Given the description of an element on the screen output the (x, y) to click on. 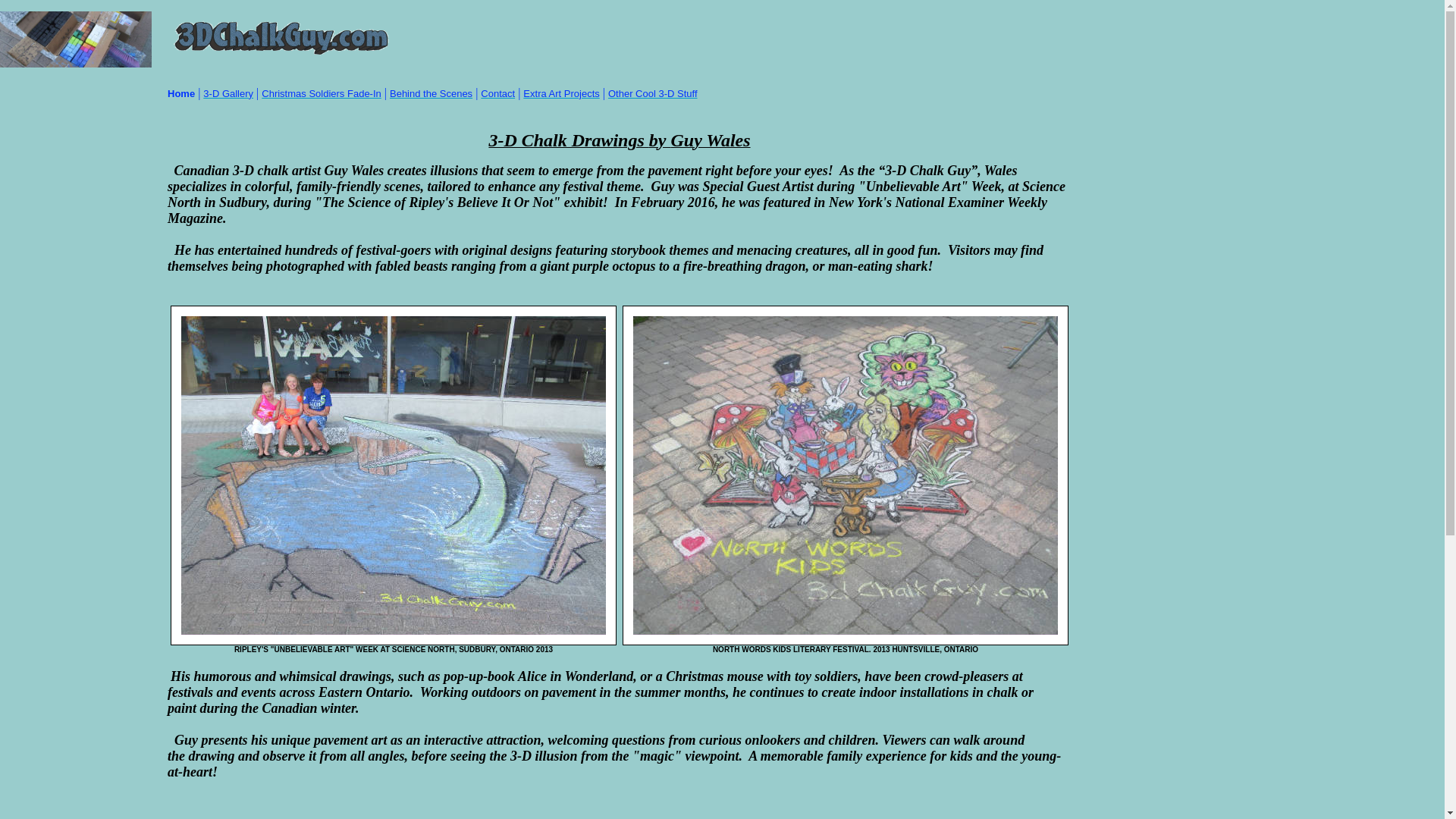
Other Cool 3-D Stuff (652, 93)
Contact (497, 93)
Christmas Soldiers Fade-In (321, 93)
Home (181, 93)
Extra Art Projects (560, 93)
Behind the Scenes (430, 93)
3-D Gallery (228, 93)
